Given the description of an element on the screen output the (x, y) to click on. 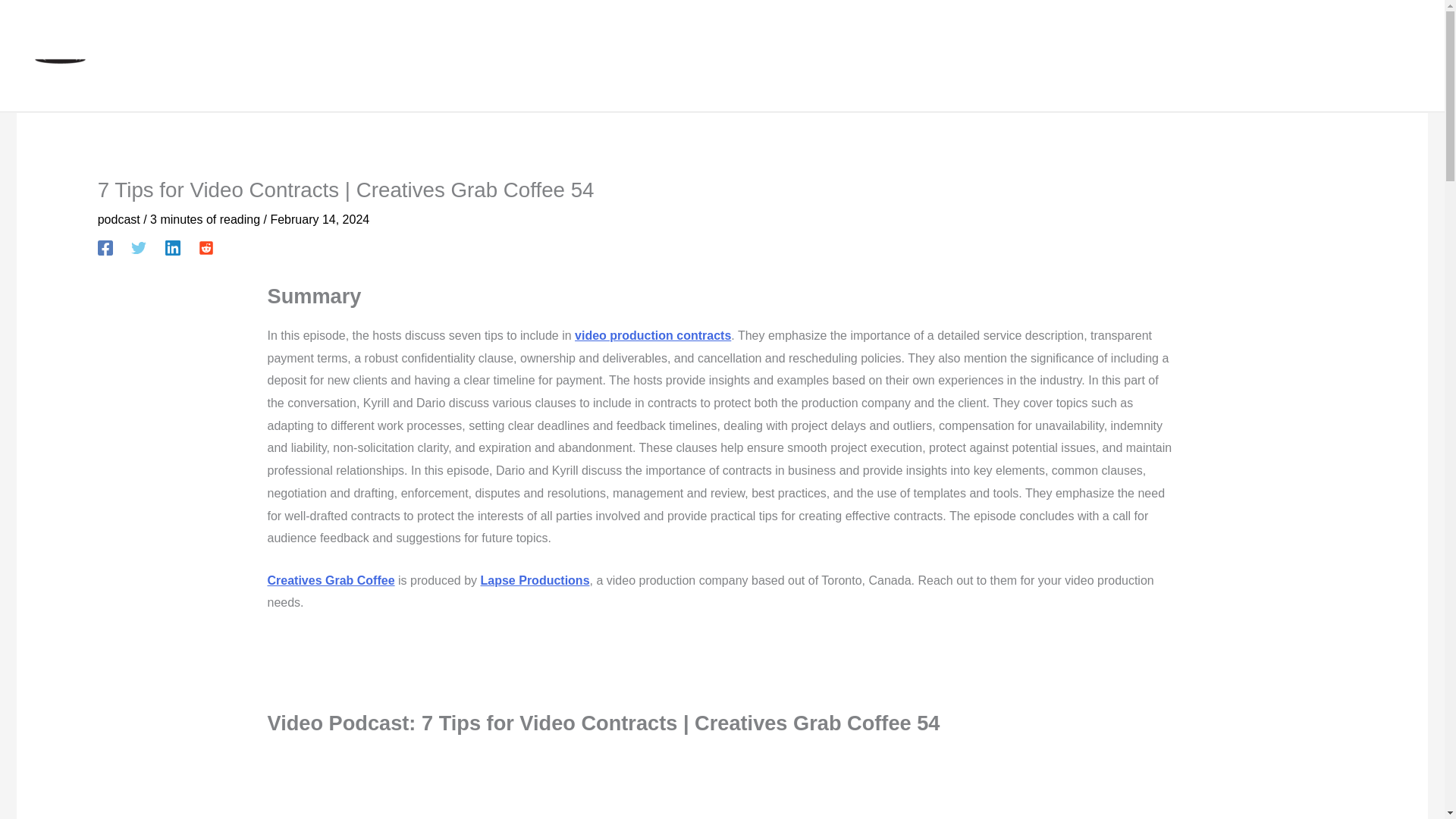
Lapse Productions (534, 580)
podcast (118, 219)
Home (1326, 55)
video production contracts (652, 335)
Creatives Grab Coffee (330, 580)
Episodes (1392, 55)
